Given the description of an element on the screen output the (x, y) to click on. 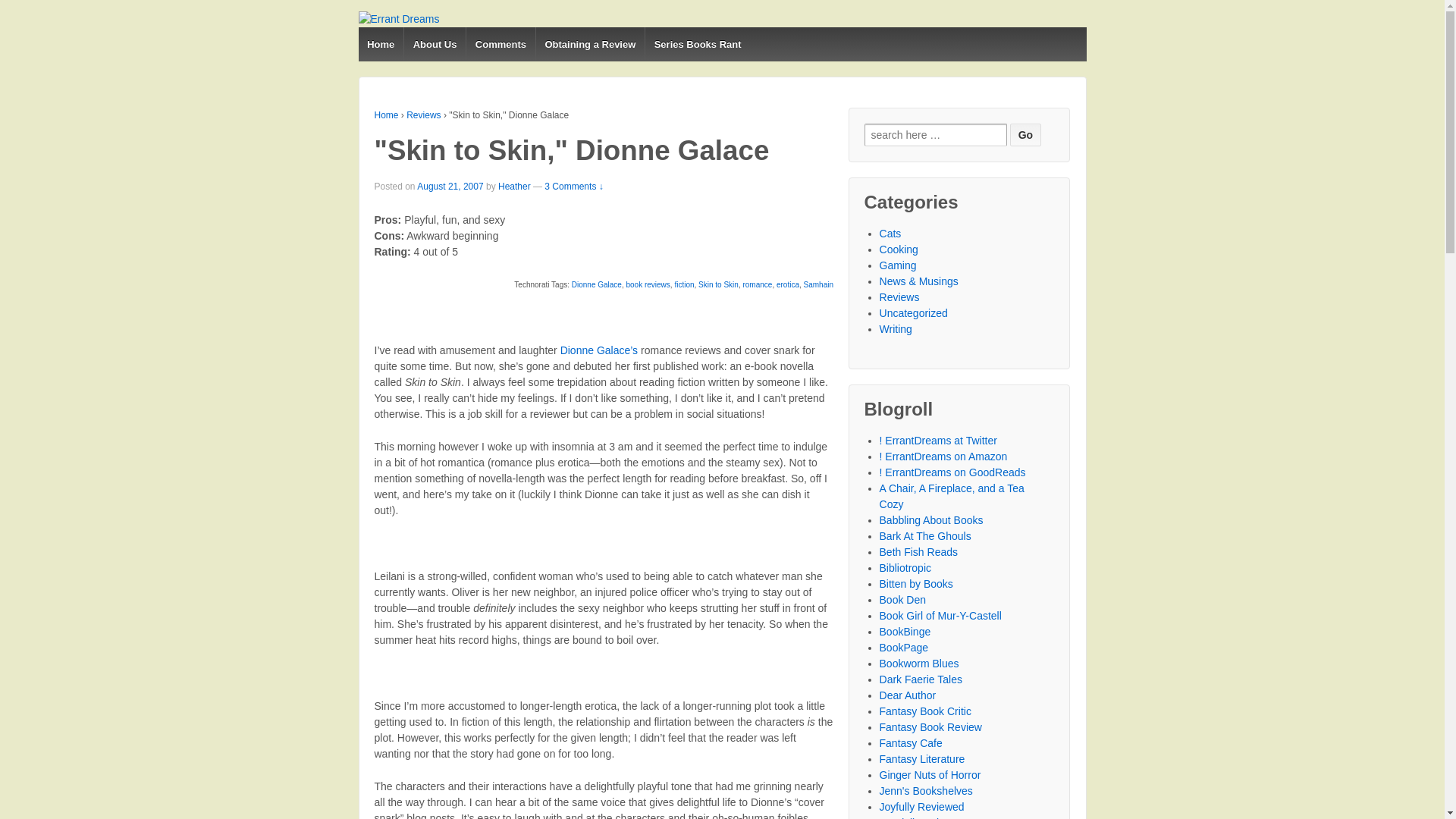
Talking about books, TV shows, movies, libraries (952, 496)
Keep up with our new reviews! (938, 440)
Reviews (423, 114)
About Us (434, 44)
book reviews (647, 284)
"Skin to Skin," Dionne Galace (449, 185)
Series Books Rant (697, 44)
Skin to Skin (718, 284)
Go (1025, 134)
Heather (514, 185)
